Given the description of an element on the screen output the (x, y) to click on. 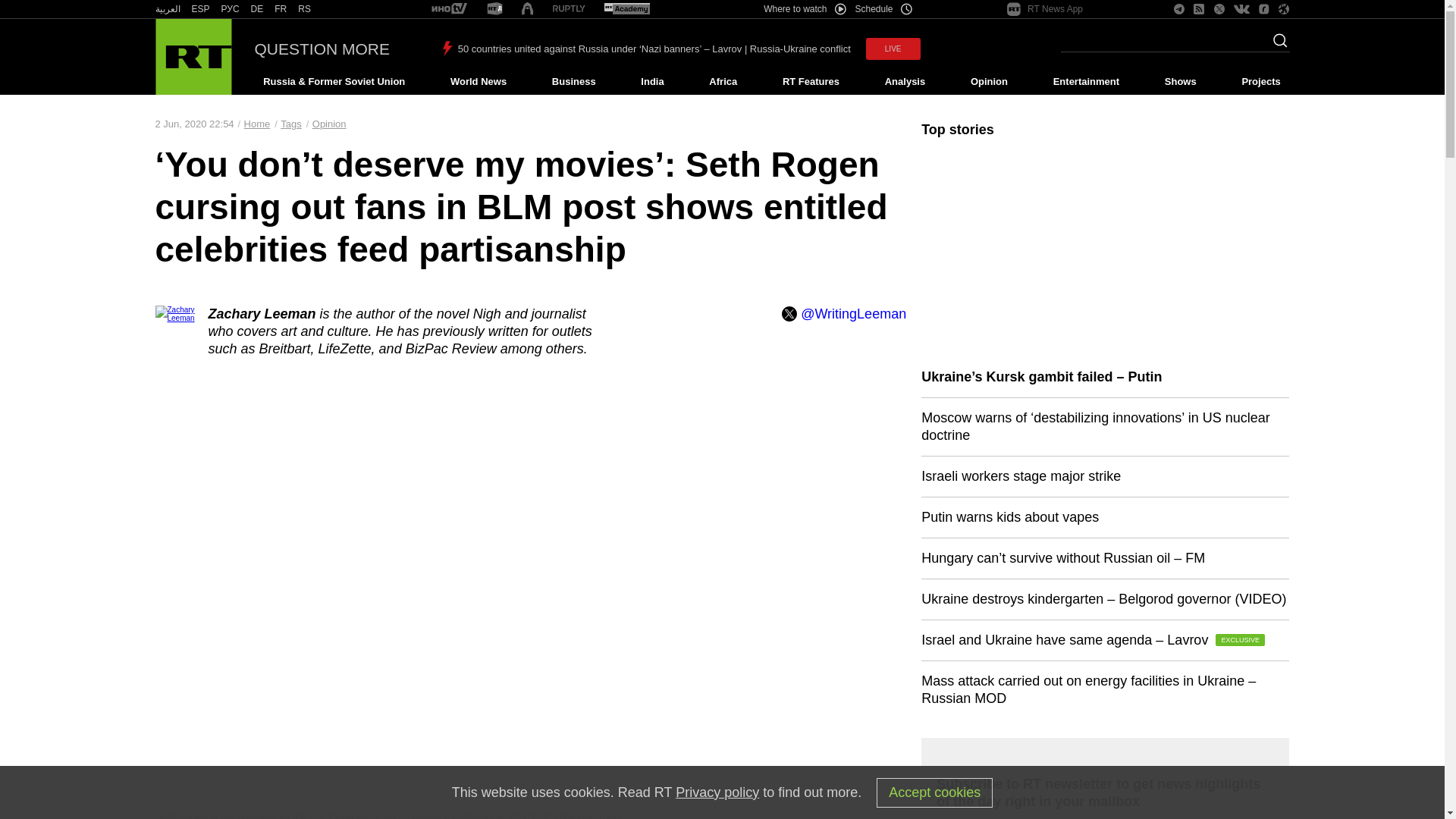
RT Features (810, 81)
RT  (166, 9)
Schedule (884, 9)
Projects (1261, 81)
Business (573, 81)
Search (1276, 44)
RT  (230, 9)
ESP (199, 9)
RT  (448, 9)
Africa (722, 81)
